Given the description of an element on the screen output the (x, y) to click on. 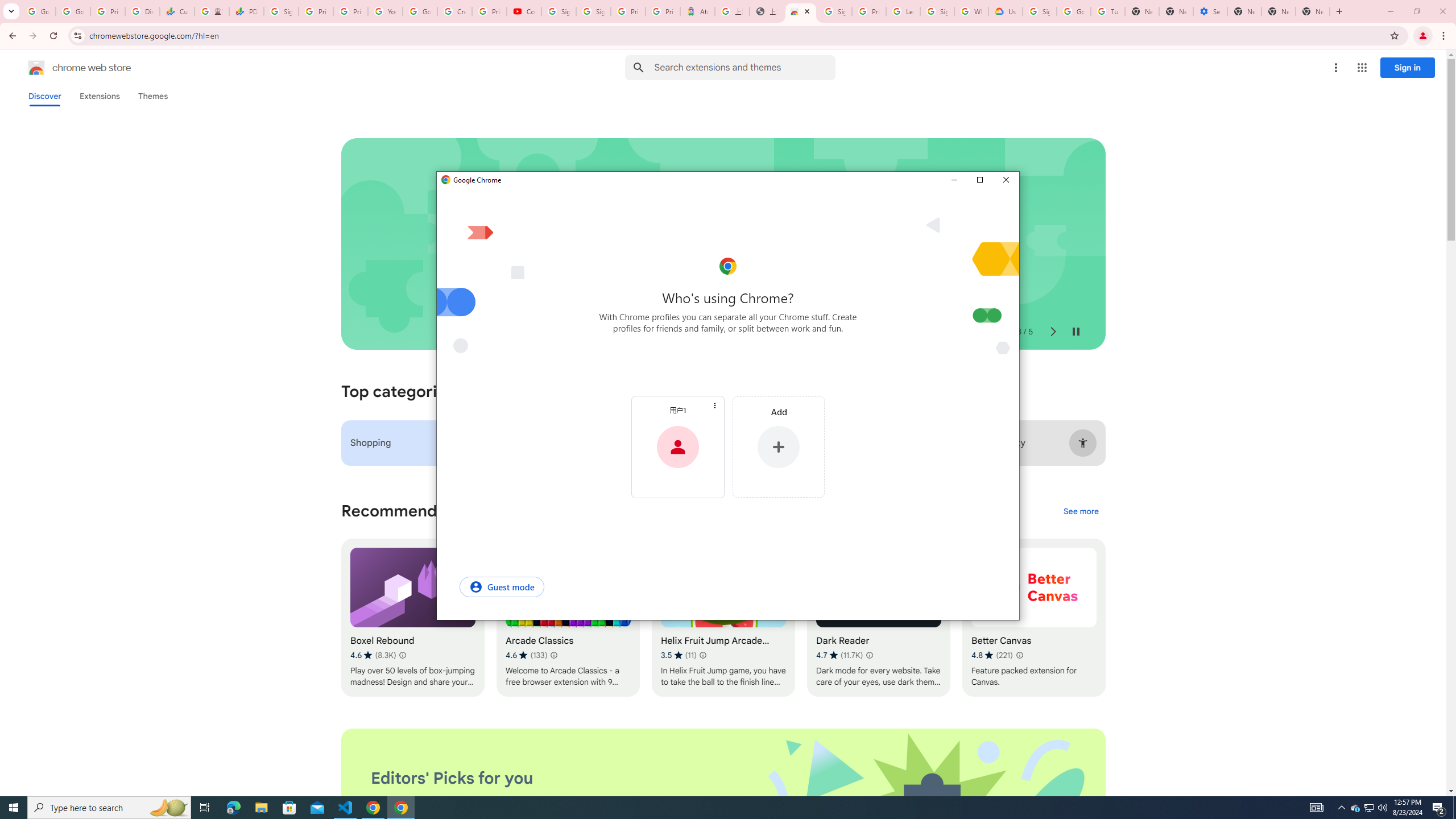
Chrome Web Store logo (36, 67)
Notification Chevron (1341, 807)
Themes (152, 95)
Next slide (1052, 331)
Average rating 4.6 out of 5 stars. 133 ratings. (526, 655)
Sign in - Google Accounts (1355, 807)
See more personalized recommendations (281, 11)
Type here to search (1080, 511)
